Given the description of an element on the screen output the (x, y) to click on. 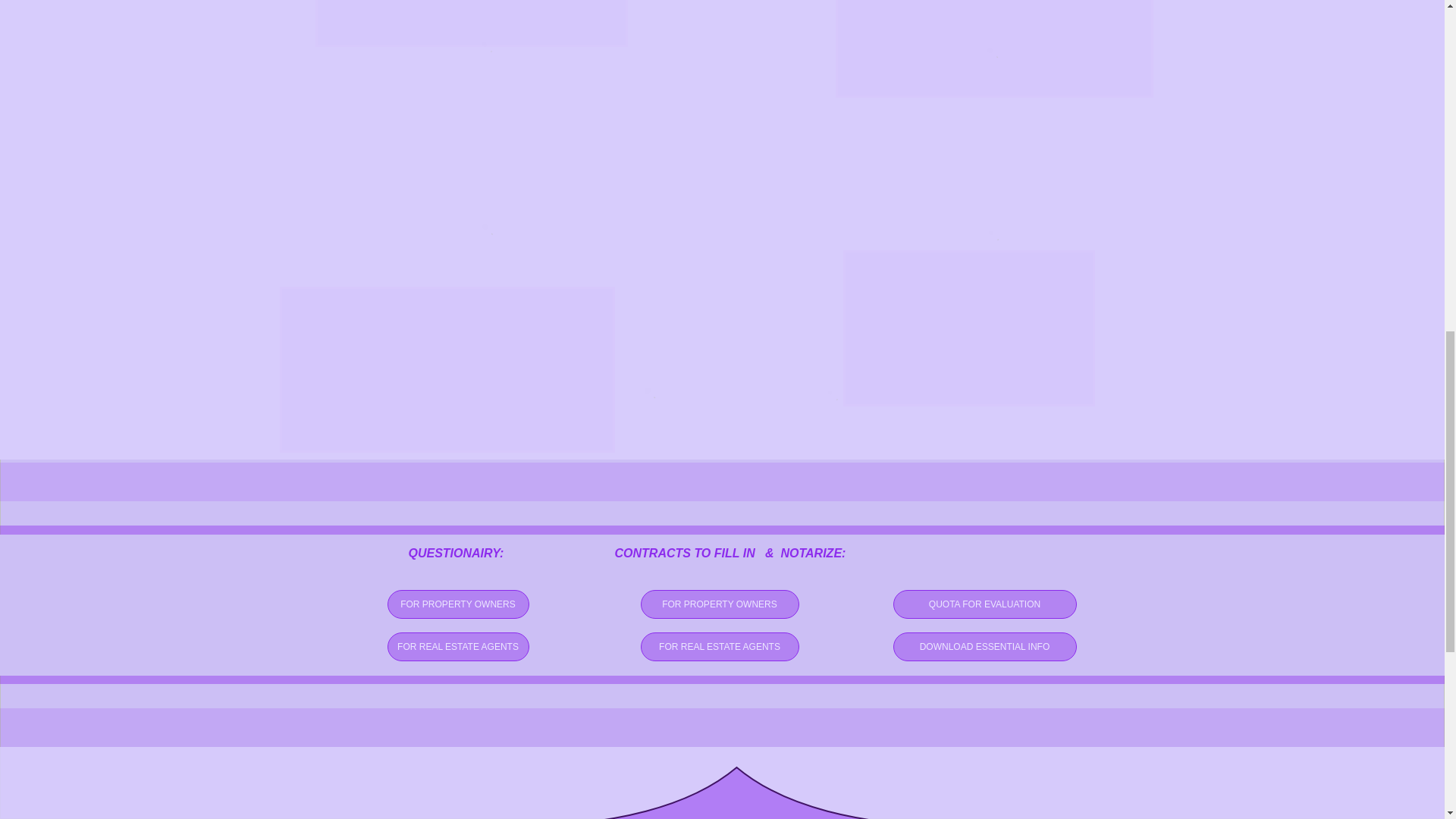
QUOTA FOR EVALUATION (985, 604)
DOWNLOAD ESSENTIAL INFO (985, 646)
FOR PROPERTY OWNERS (718, 604)
FOR PROPERTY OWNERS (457, 604)
